Given the description of an element on the screen output the (x, y) to click on. 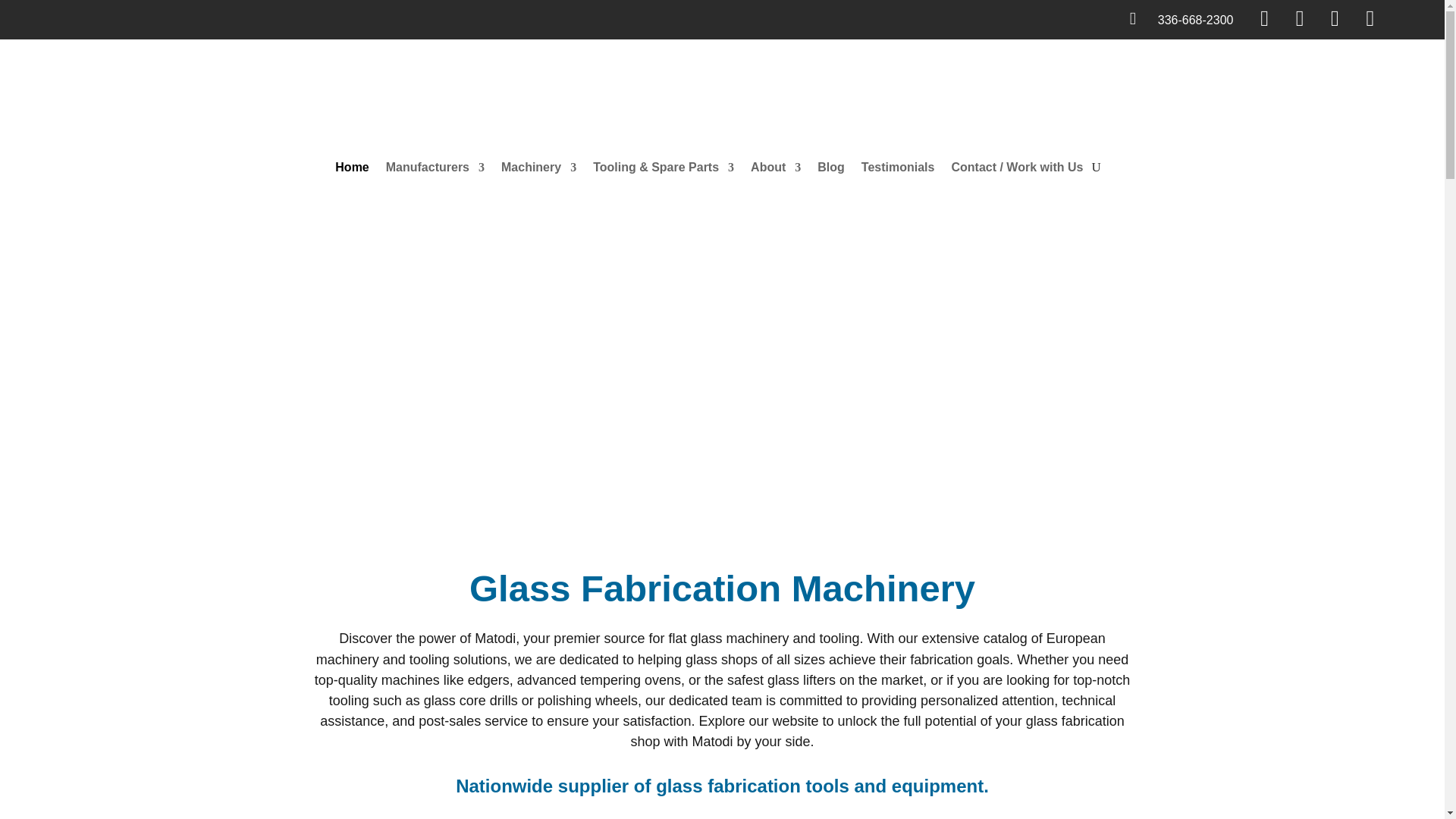
Machinery (538, 167)
336-668-2300 (1195, 19)
Testimonials (897, 167)
Manufacturers (434, 167)
